Given the description of an element on the screen output the (x, y) to click on. 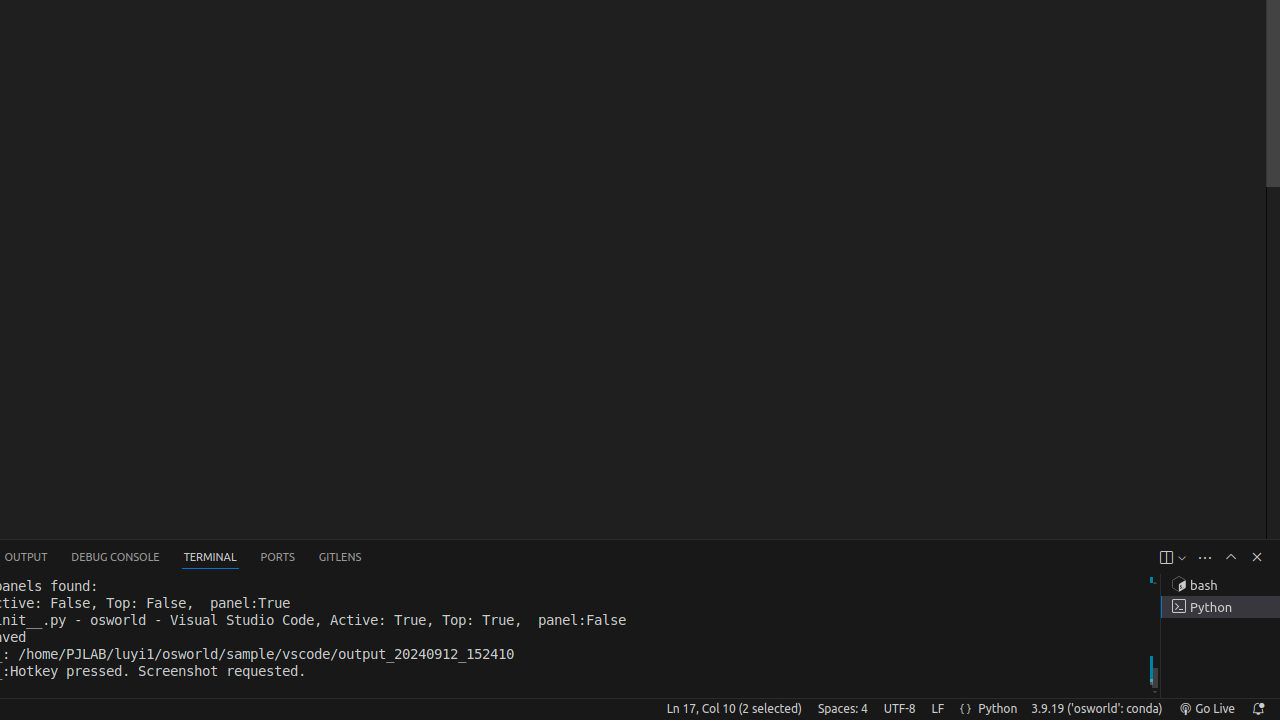
broadcast Go Live, Click to run live server Element type: push-button (1206, 709)
Terminal 1 bash Element type: list-item (1220, 585)
Python Element type: push-button (998, 709)
Editor Language Status: Auto Import Completions: false Element type: push-button (965, 709)
GitLens Element type: page-tab (340, 557)
